Given the description of an element on the screen output the (x, y) to click on. 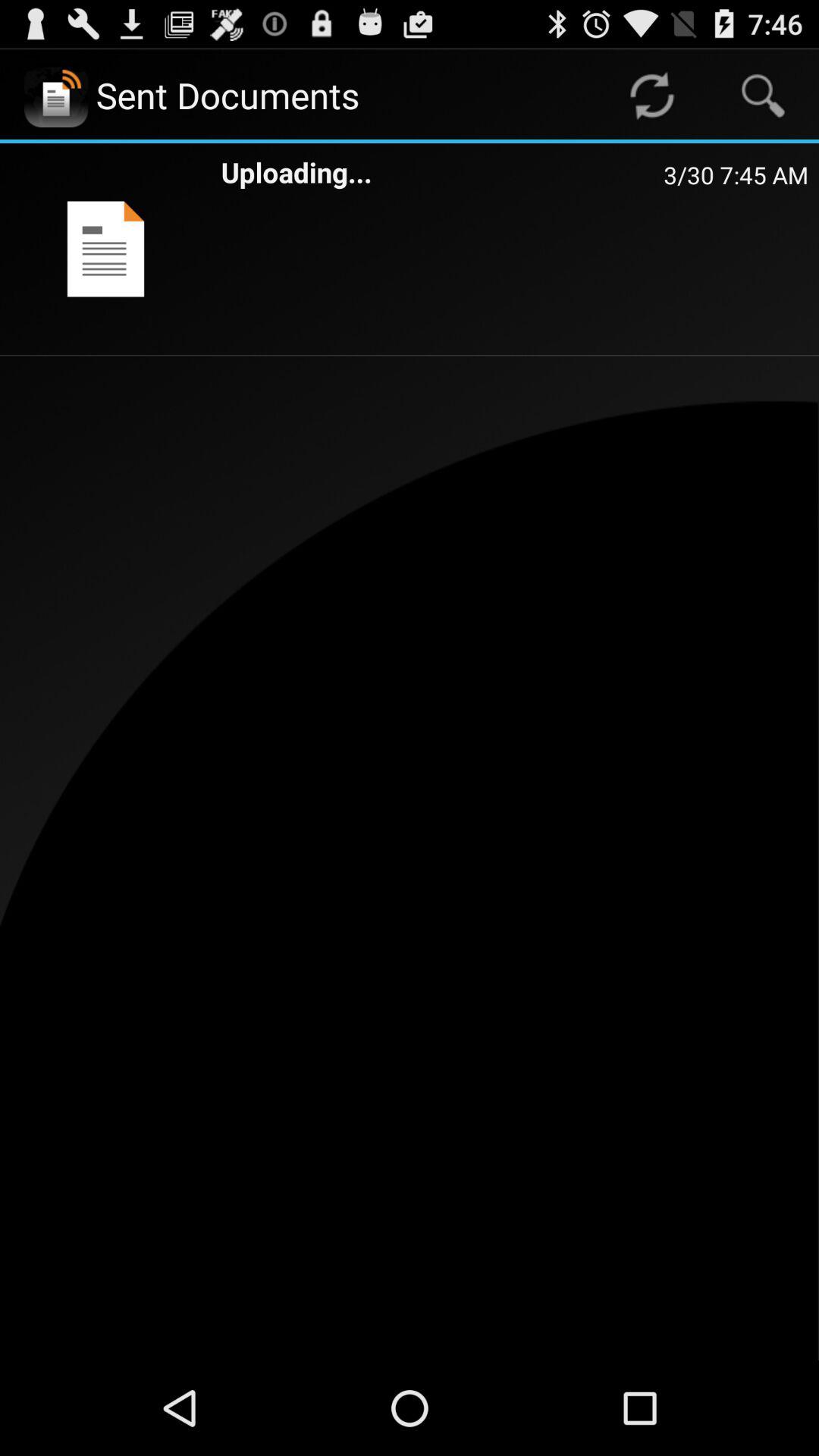
open the item to the left of uploading... (105, 248)
